Given the description of an element on the screen output the (x, y) to click on. 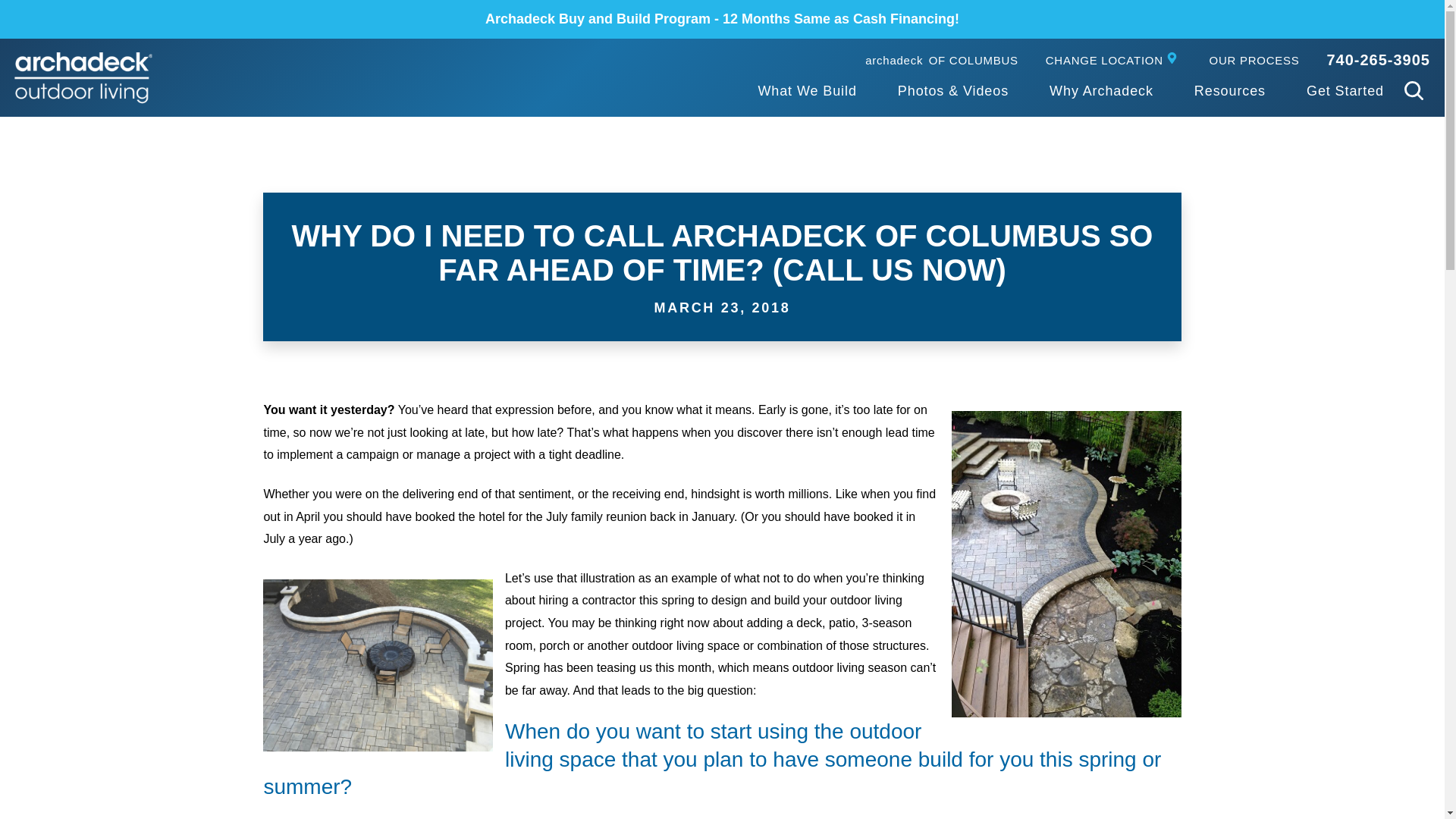
Archadeck (83, 78)
CHANGE LOCATION (1113, 60)
What We Build (940, 60)
740-265-3905 (806, 91)
Why Archadeck (1377, 59)
OUR PROCESS (1101, 91)
